Given the description of an element on the screen output the (x, y) to click on. 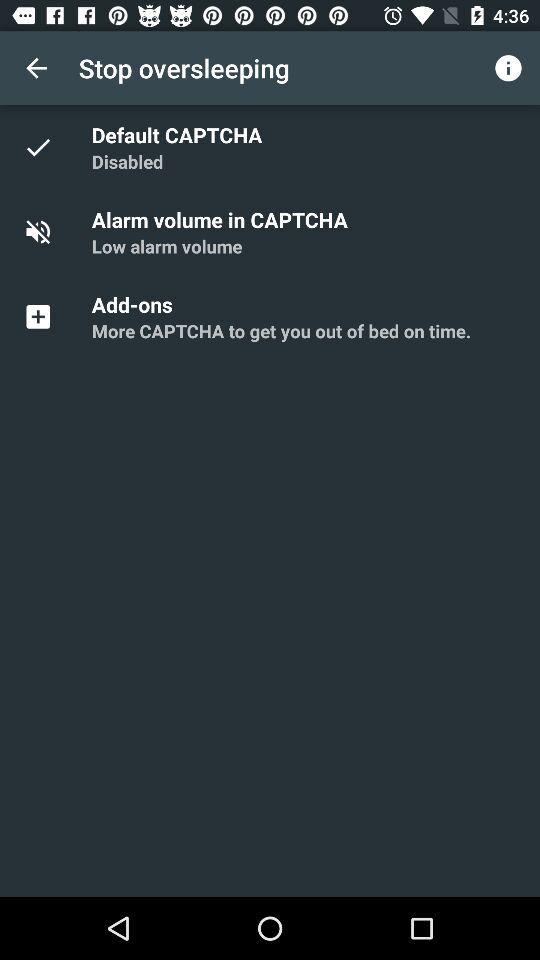
select app below the stop oversleeping app (180, 134)
